Given the description of an element on the screen output the (x, y) to click on. 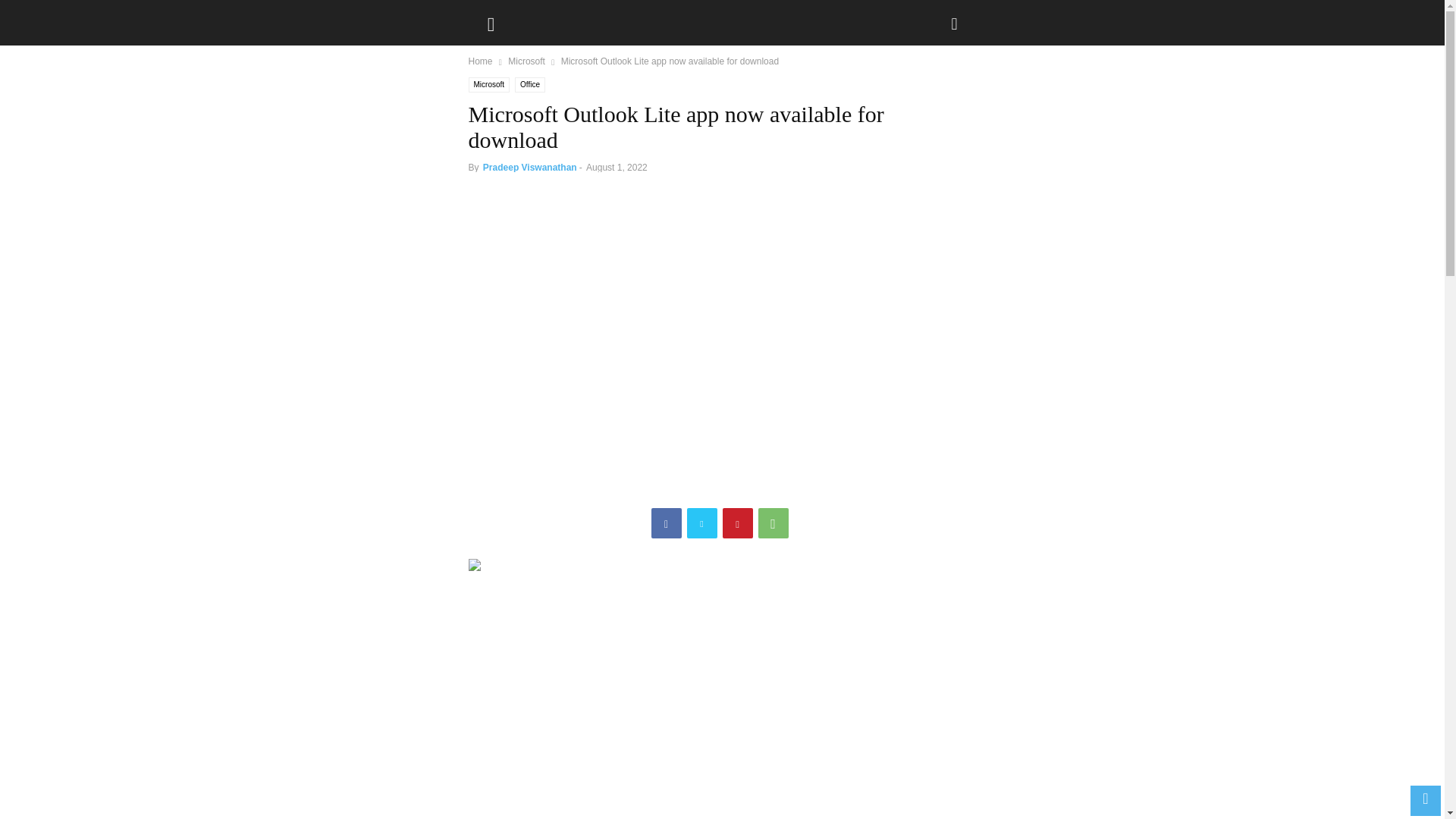
BigTechWire (546, 18)
Microsoft (526, 61)
Microsoft (489, 84)
Office (529, 84)
Home (480, 61)
WhatsApp (773, 522)
View all posts in Microsoft (526, 61)
Facebook (665, 522)
Pinterest (737, 522)
Twitter (702, 522)
Pradeep Viswanathan (529, 167)
